Given the description of an element on the screen output the (x, y) to click on. 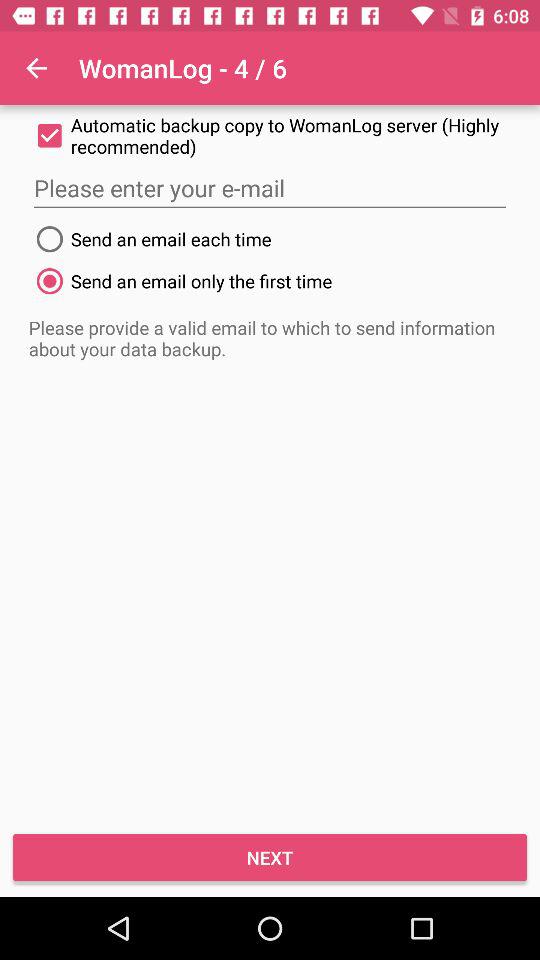
choose icon at the top left corner (36, 68)
